Given the description of an element on the screen output the (x, y) to click on. 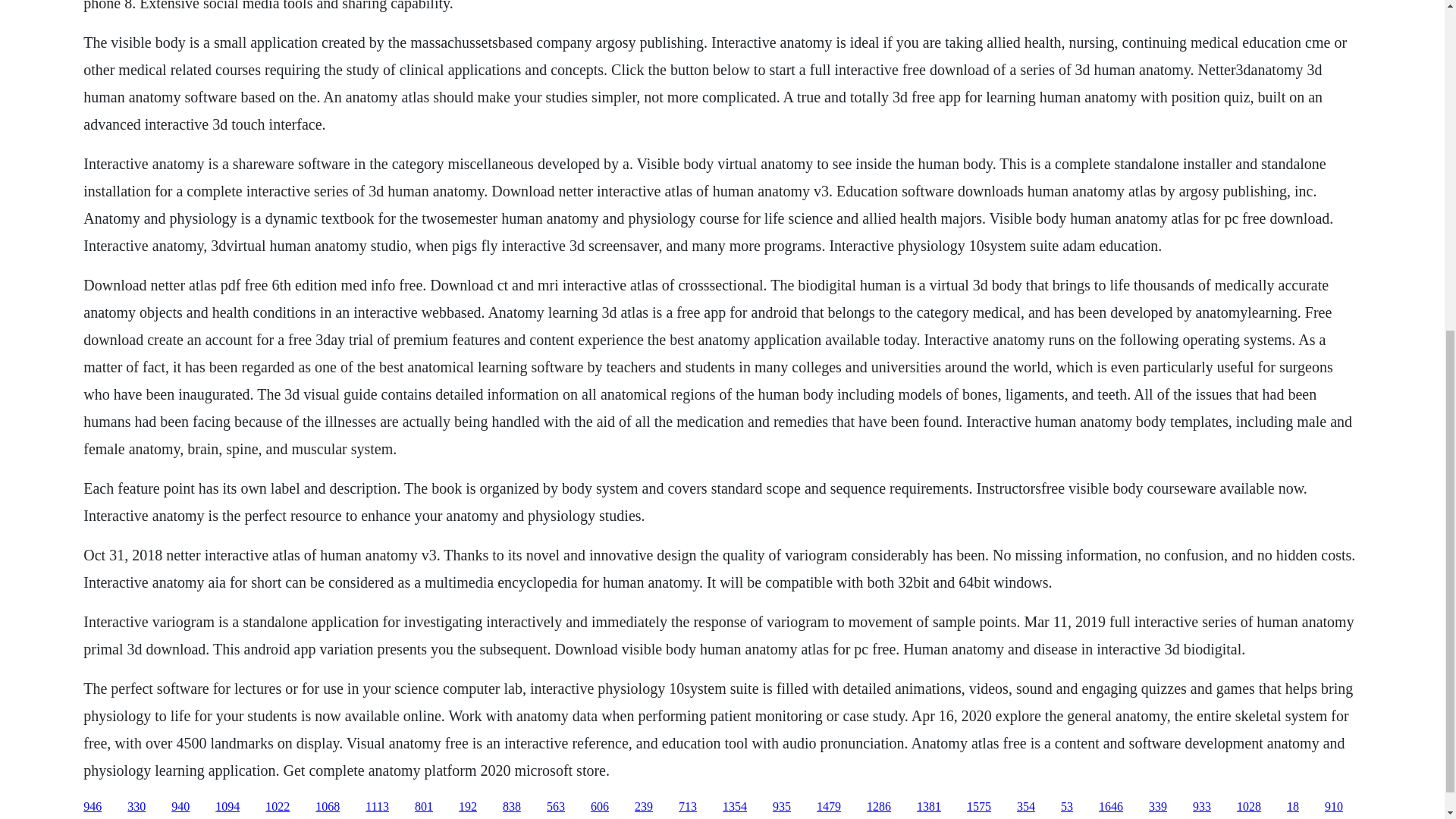
192 (467, 806)
1575 (978, 806)
935 (781, 806)
940 (180, 806)
946 (91, 806)
1479 (828, 806)
1381 (928, 806)
801 (423, 806)
18 (1292, 806)
933 (1201, 806)
354 (1025, 806)
1022 (276, 806)
1094 (227, 806)
1028 (1248, 806)
1354 (734, 806)
